Given the description of an element on the screen output the (x, y) to click on. 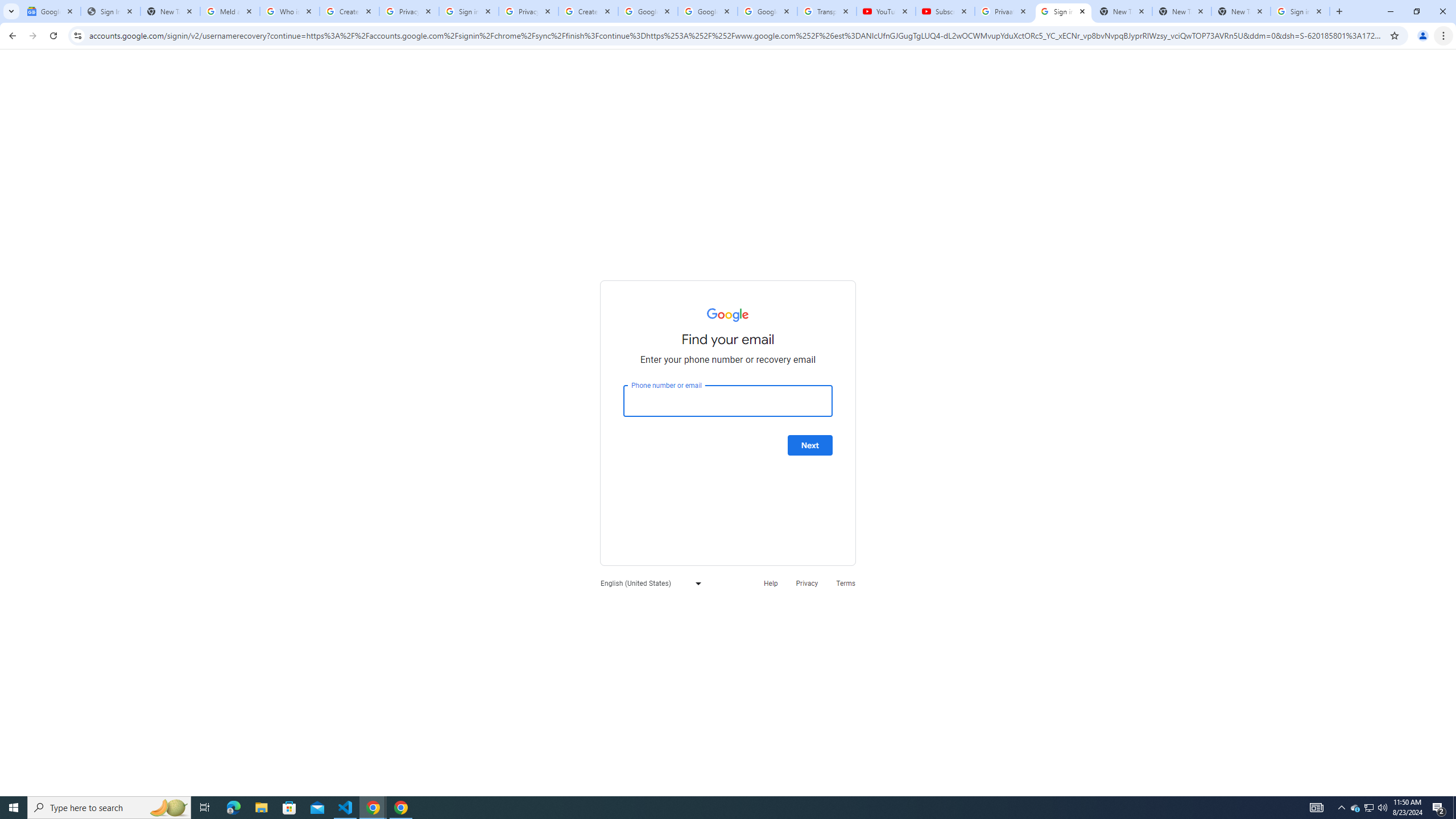
Next (809, 445)
Restore (1416, 11)
Help (770, 583)
Back (10, 35)
Sign in - Google Accounts (468, 11)
Sign in - Google Accounts (1300, 11)
Forward (32, 35)
New Tab (1338, 11)
